Given the description of an element on the screen output the (x, y) to click on. 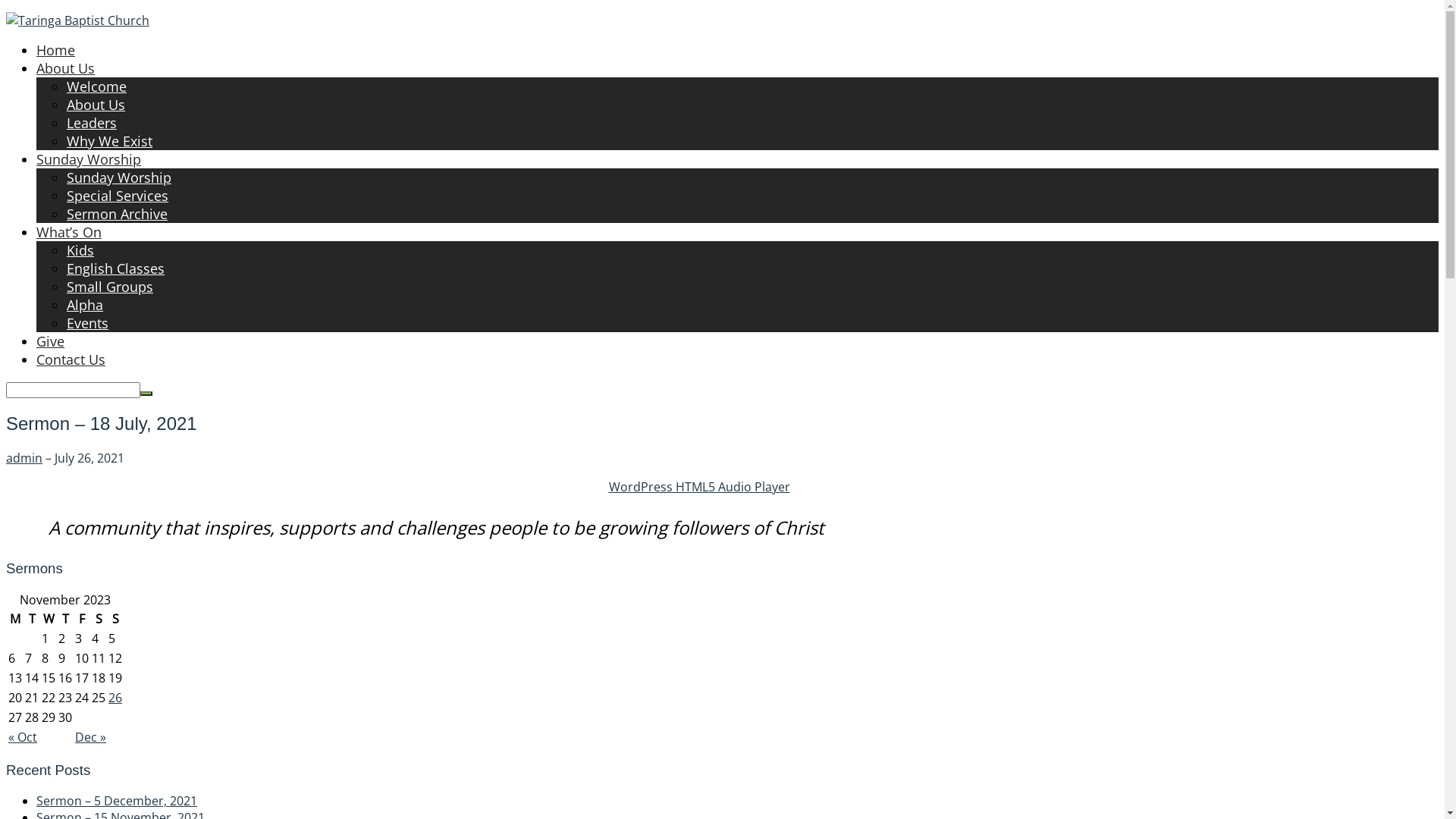
26 Element type: text (115, 697)
Contact Us Element type: text (70, 359)
Events Element type: text (87, 322)
WordPress HTML5 Audio Player Element type: text (698, 486)
Small Groups Element type: text (109, 286)
Special Services Element type: text (117, 195)
Leaders Element type: text (91, 122)
Alpha Element type: text (84, 304)
admin Element type: text (24, 457)
About Us Element type: text (95, 104)
Sermon Archive Element type: text (116, 213)
Why We Exist Element type: text (109, 140)
English Classes Element type: text (115, 268)
About Us Element type: text (65, 68)
Sunday Worship Element type: text (118, 177)
Sunday Worship Element type: text (88, 159)
Home Element type: text (55, 49)
Give Element type: text (50, 341)
Welcome Element type: text (96, 86)
Kids Element type: text (80, 250)
